Given the description of an element on the screen output the (x, y) to click on. 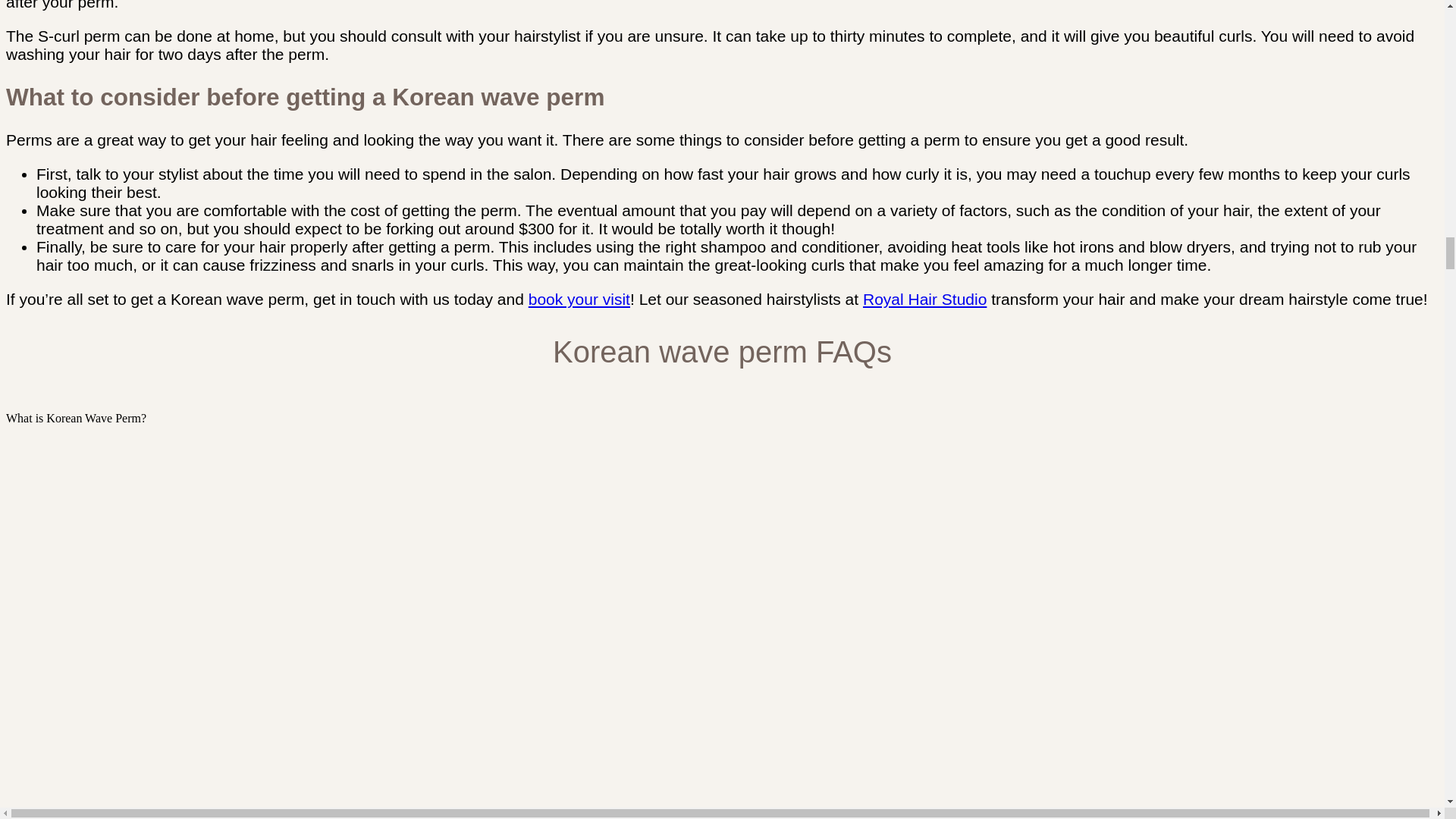
book your visit (579, 298)
Royal Hair Studio (925, 298)
